Given the description of an element on the screen output the (x, y) to click on. 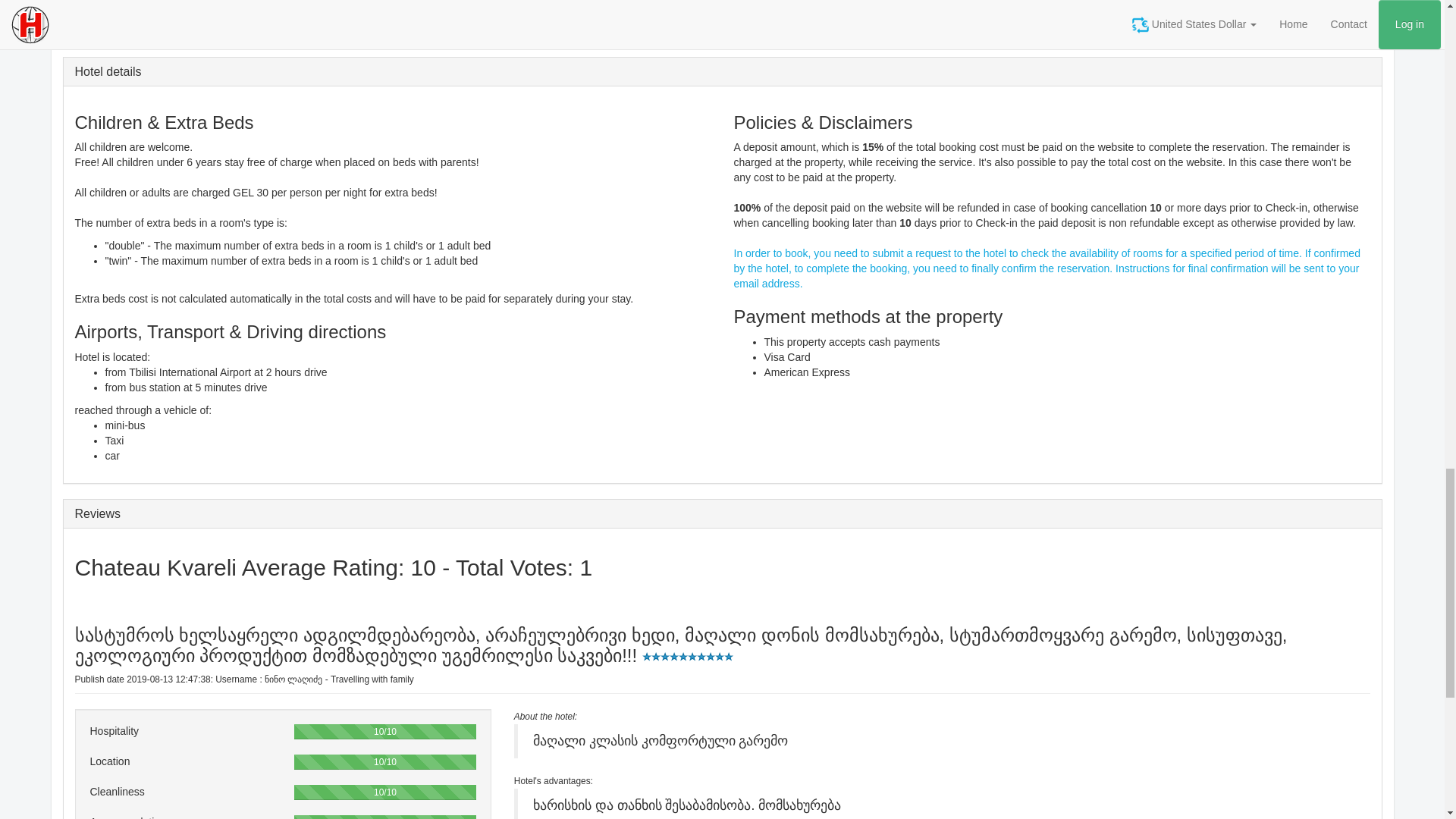
arminka (544, 716)
